Given the description of an element on the screen output the (x, y) to click on. 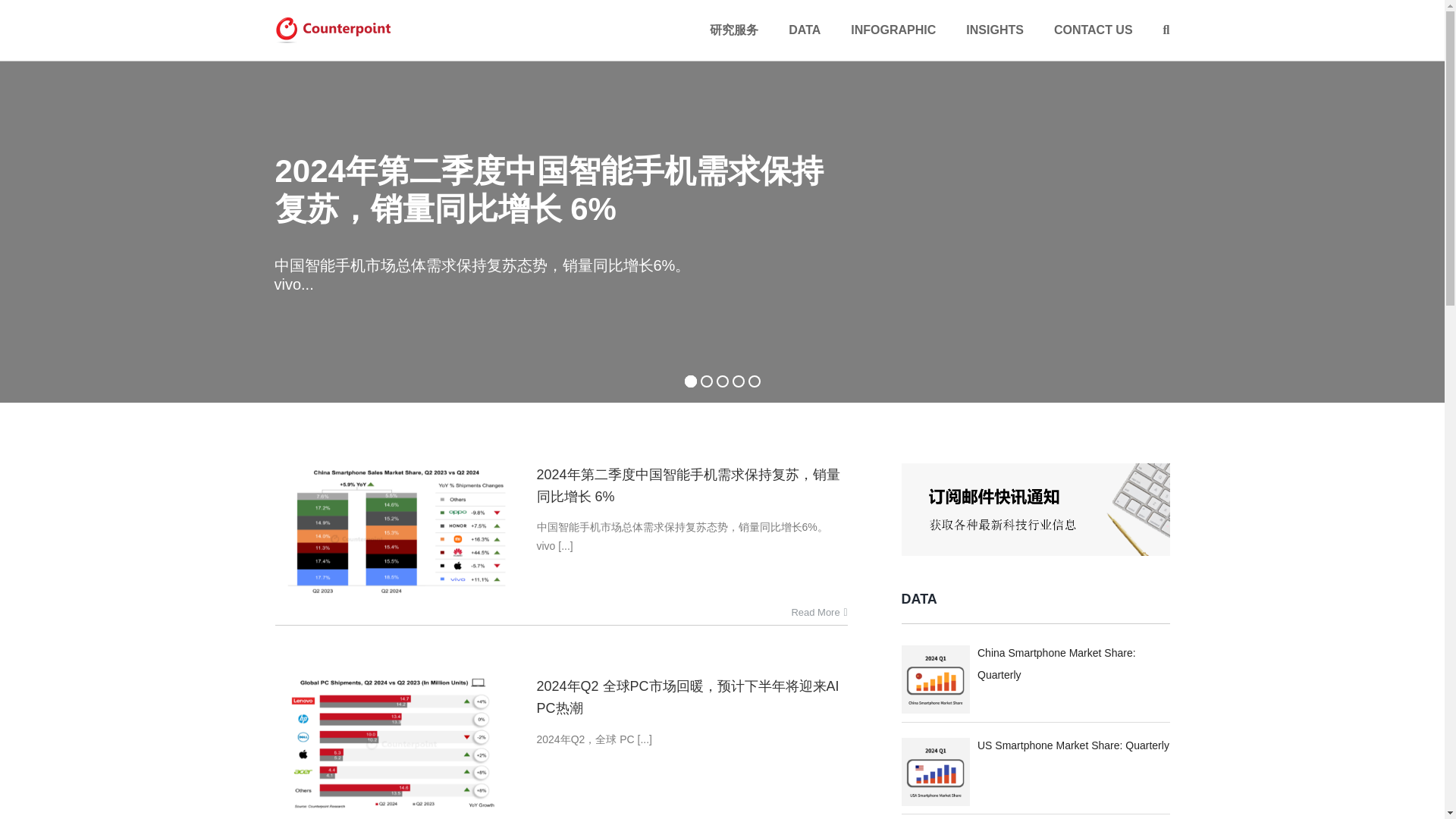
CONTACT US (1093, 30)
INSIGHTS (994, 30)
INFOGRAPHIC (893, 30)
